Given the description of an element on the screen output the (x, y) to click on. 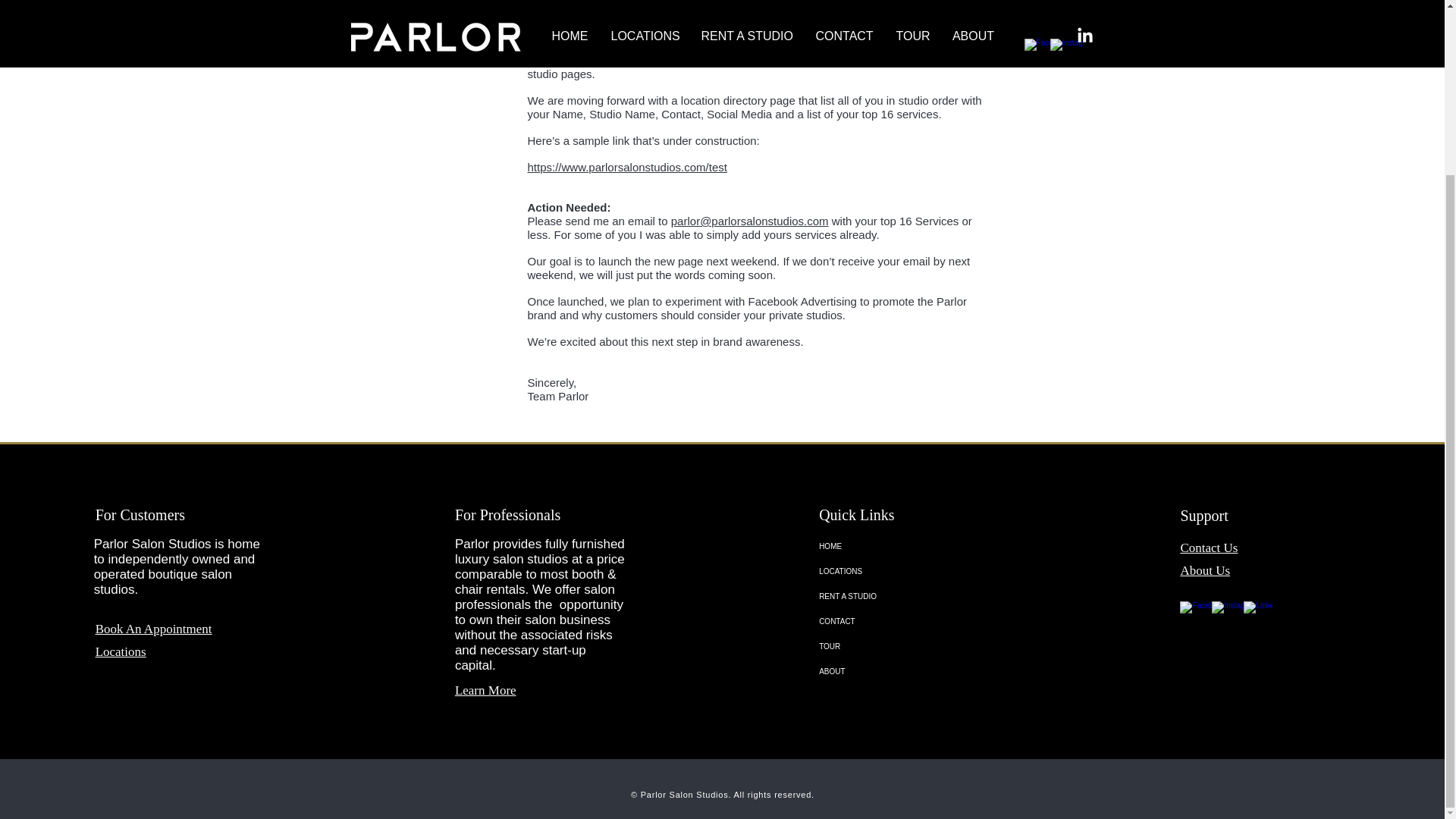
LOCATIONS (901, 570)
CONTACT (901, 621)
TOUR (901, 646)
RENT A STUDIO (901, 596)
ABOUT (901, 671)
Learn More (485, 690)
HOME (901, 545)
Book An Appointment (154, 629)
Locations (121, 652)
About Us (1204, 571)
Contact Us (1208, 548)
